Given the description of an element on the screen output the (x, y) to click on. 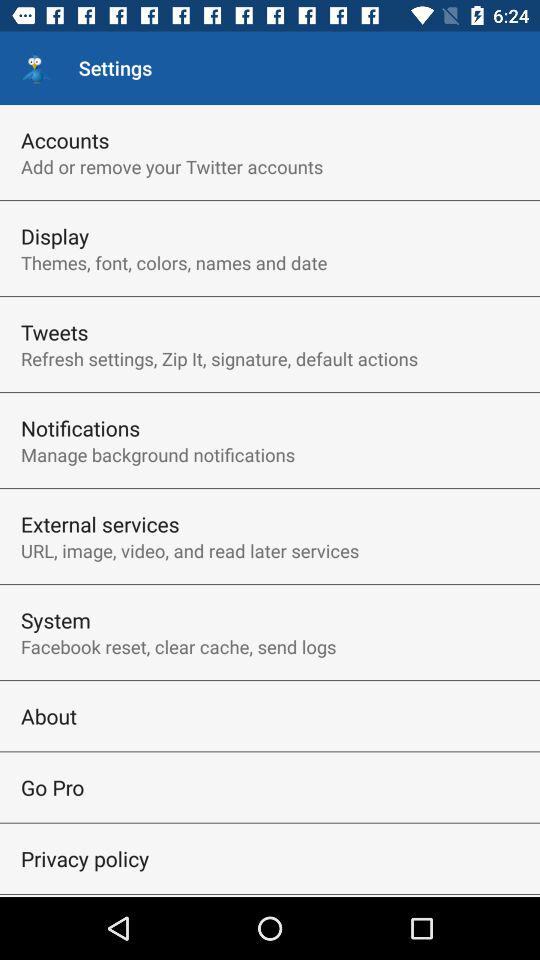
turn off item above url image video (100, 524)
